Given the description of an element on the screen output the (x, y) to click on. 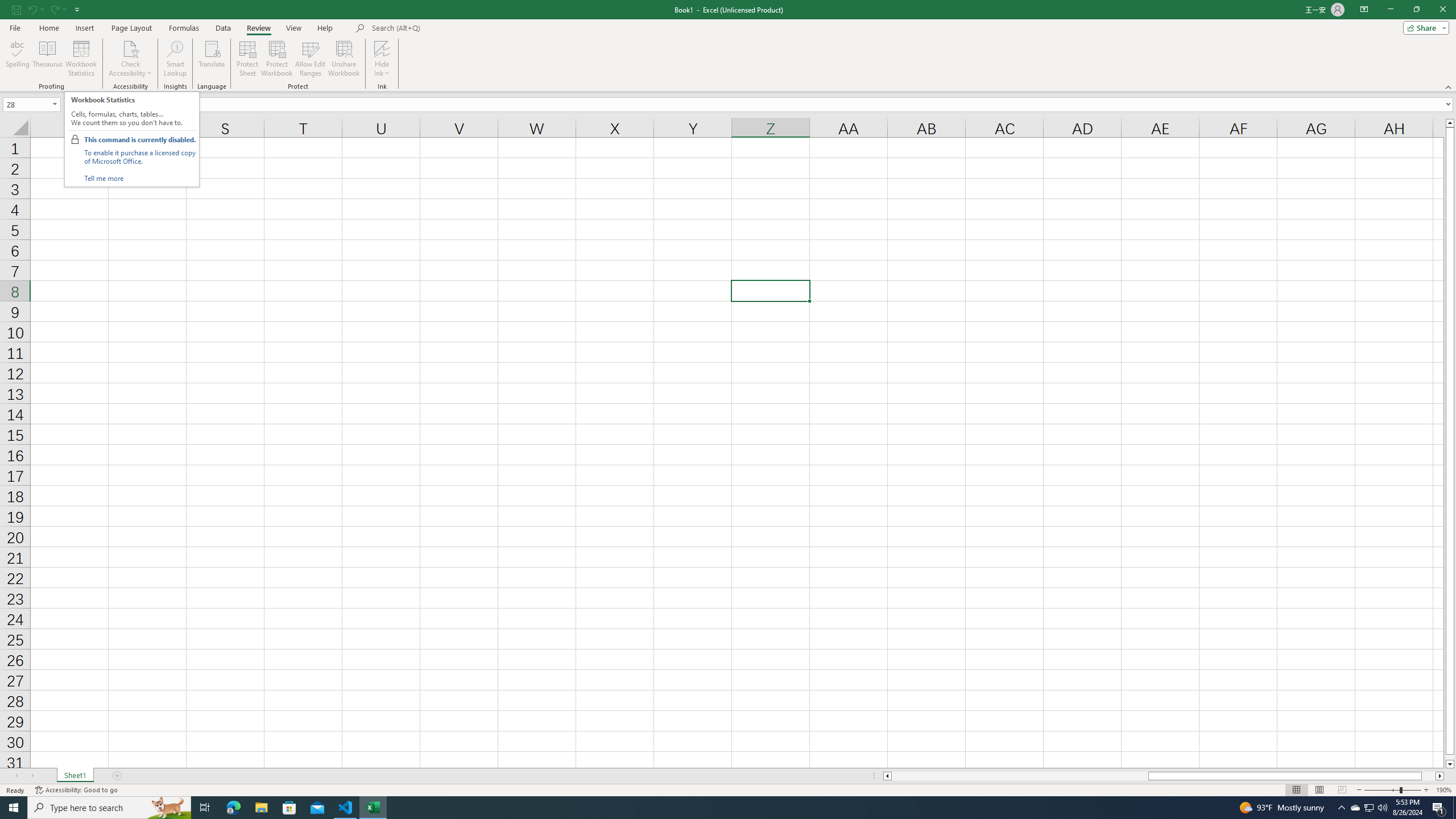
Smart Lookup (175, 58)
Spelling... (17, 58)
This command is currently disabled. (139, 139)
